Given the description of an element on the screen output the (x, y) to click on. 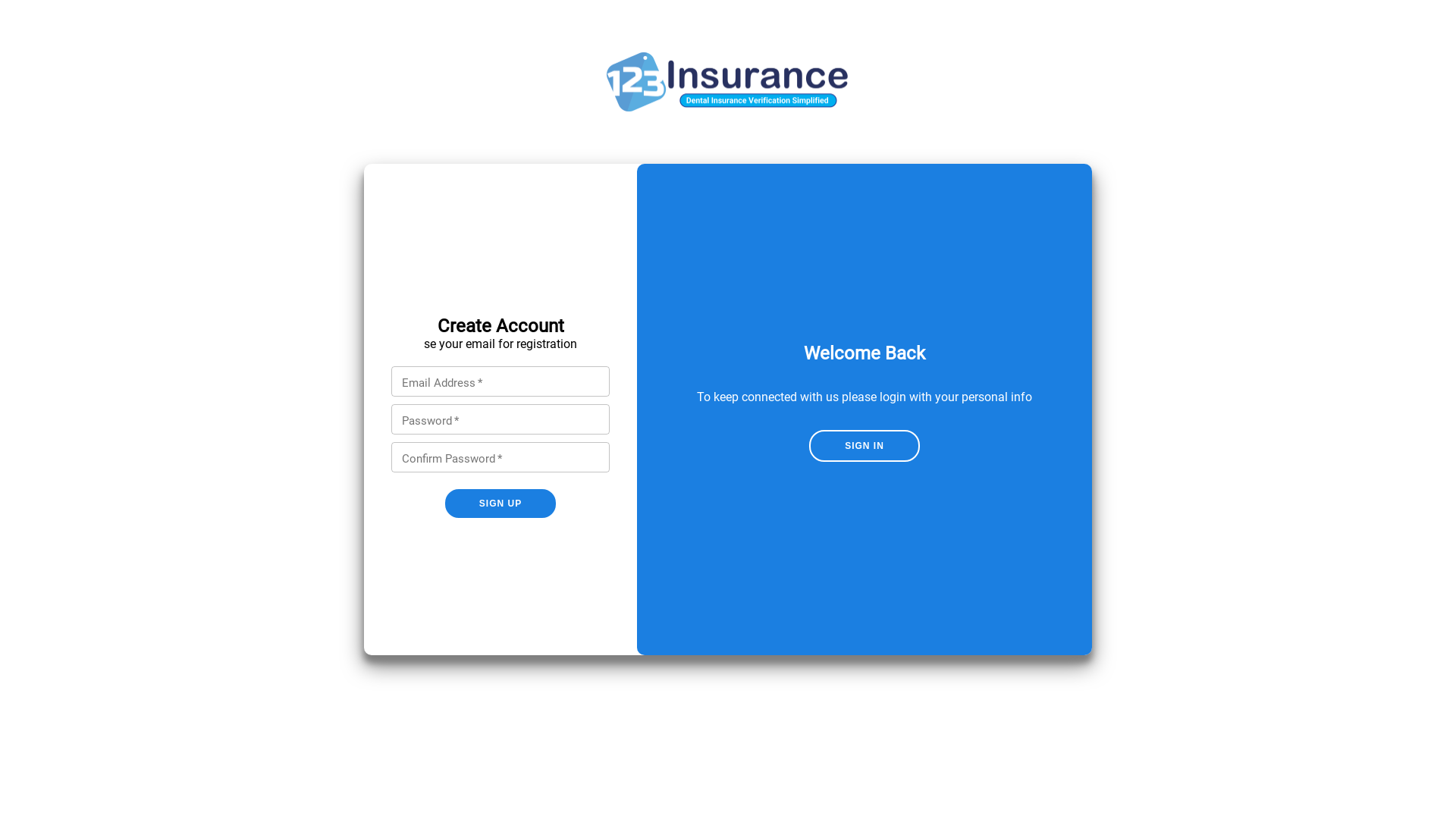
SIGN IN Element type: text (864, 445)
SIGN UP Element type: text (500, 502)
